Given the description of an element on the screen output the (x, y) to click on. 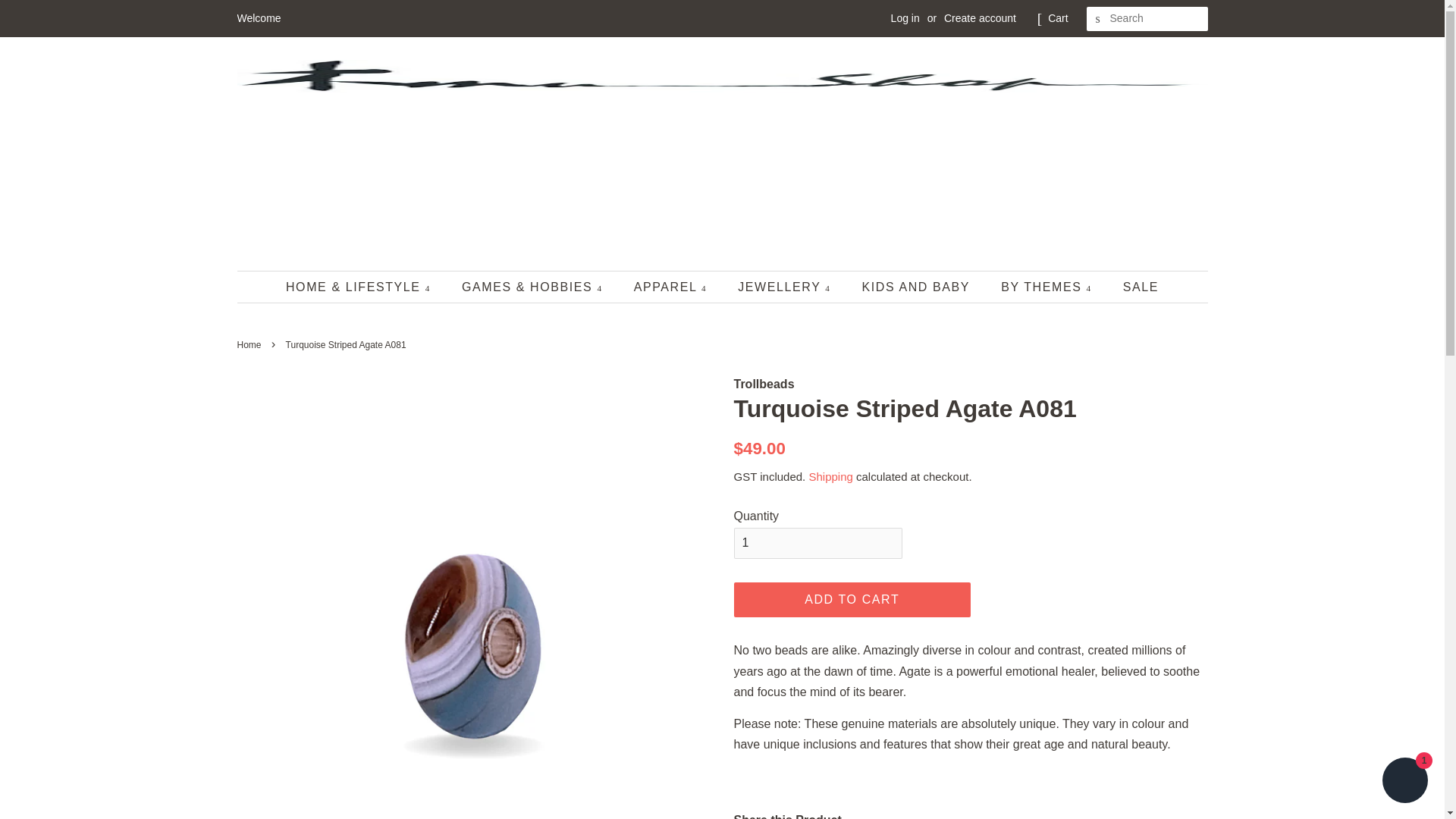
Shopify online store chat (1404, 781)
SEARCH (1097, 18)
1 (817, 542)
Cart (1057, 18)
Create account (979, 18)
Back to the frontpage (249, 344)
Log in (905, 18)
